Given the description of an element on the screen output the (x, y) to click on. 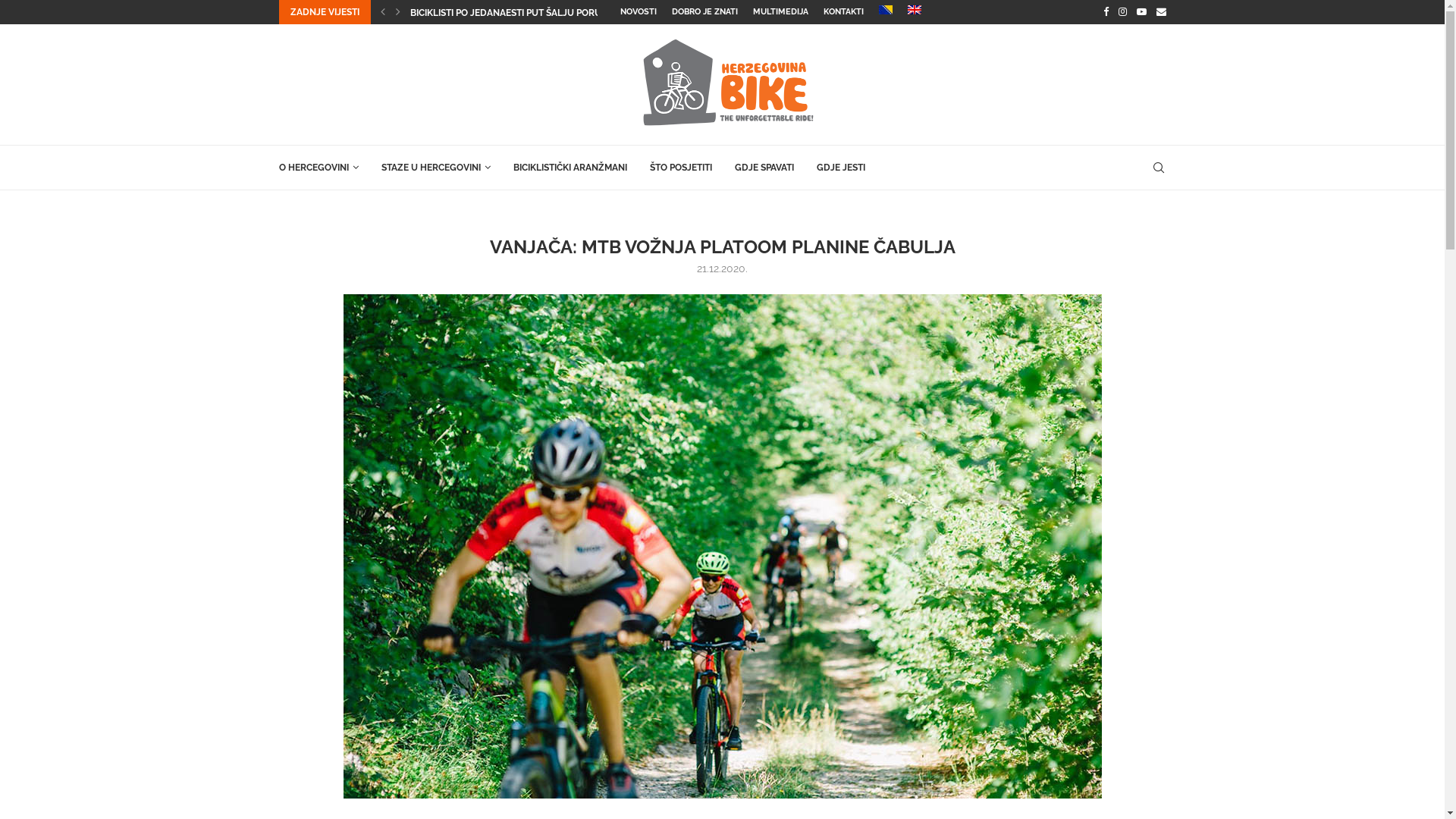
GDJE SPAVATI Element type: text (763, 167)
GDJE JESTI Element type: text (839, 167)
O HERCEGOVINI Element type: text (318, 167)
NOVOSTI Element type: text (638, 12)
STAZE U HERCEGOVINI Element type: text (434, 167)
DOBRO JE ZNATI Element type: text (704, 12)
MULTIMEDIJA Element type: text (779, 12)
Vanjaca Goranci naslov Element type: hover (721, 546)
KONTAKTI Element type: text (843, 12)
